Given the description of an element on the screen output the (x, y) to click on. 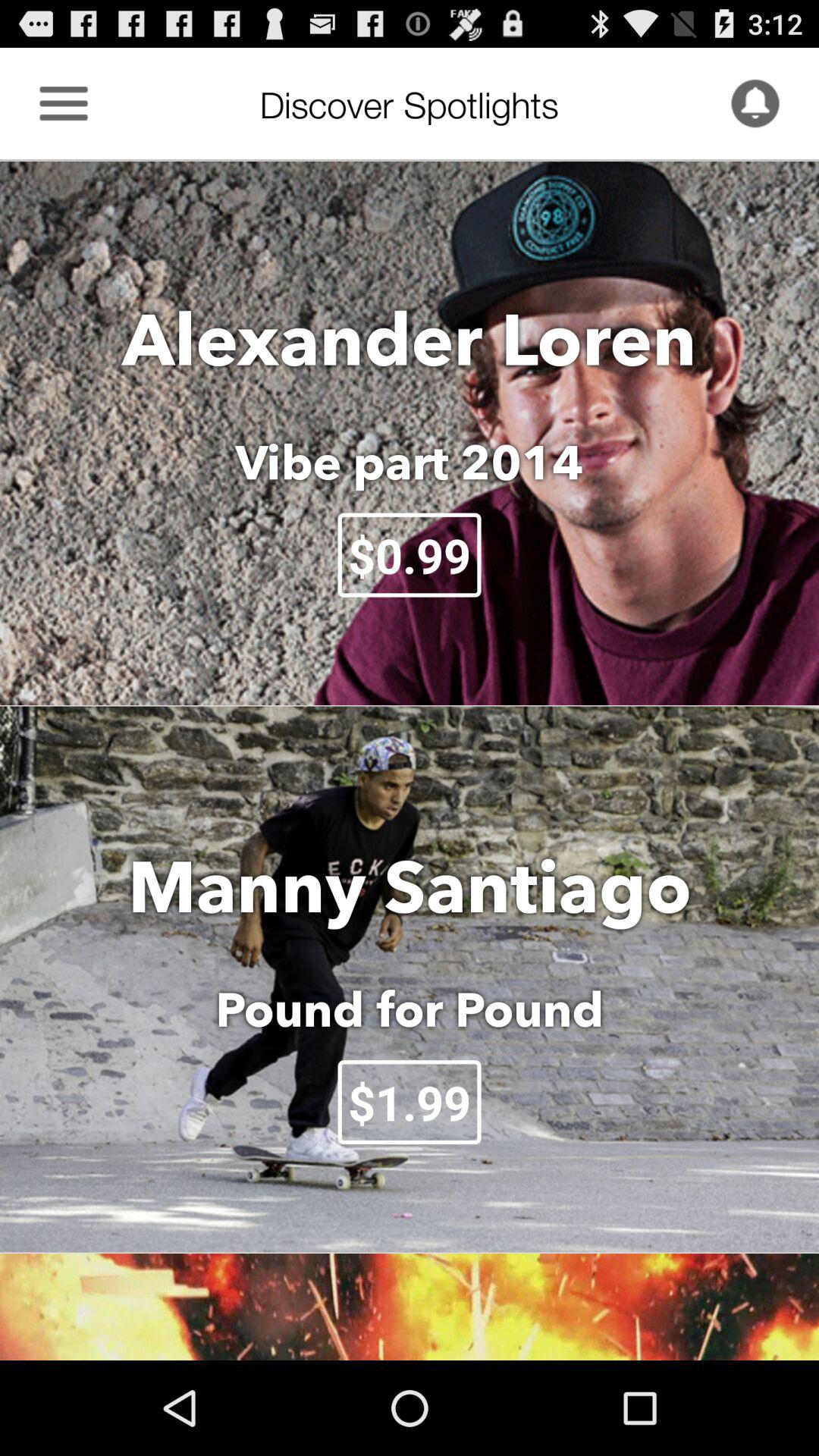
alert notification (755, 103)
